Given the description of an element on the screen output the (x, y) to click on. 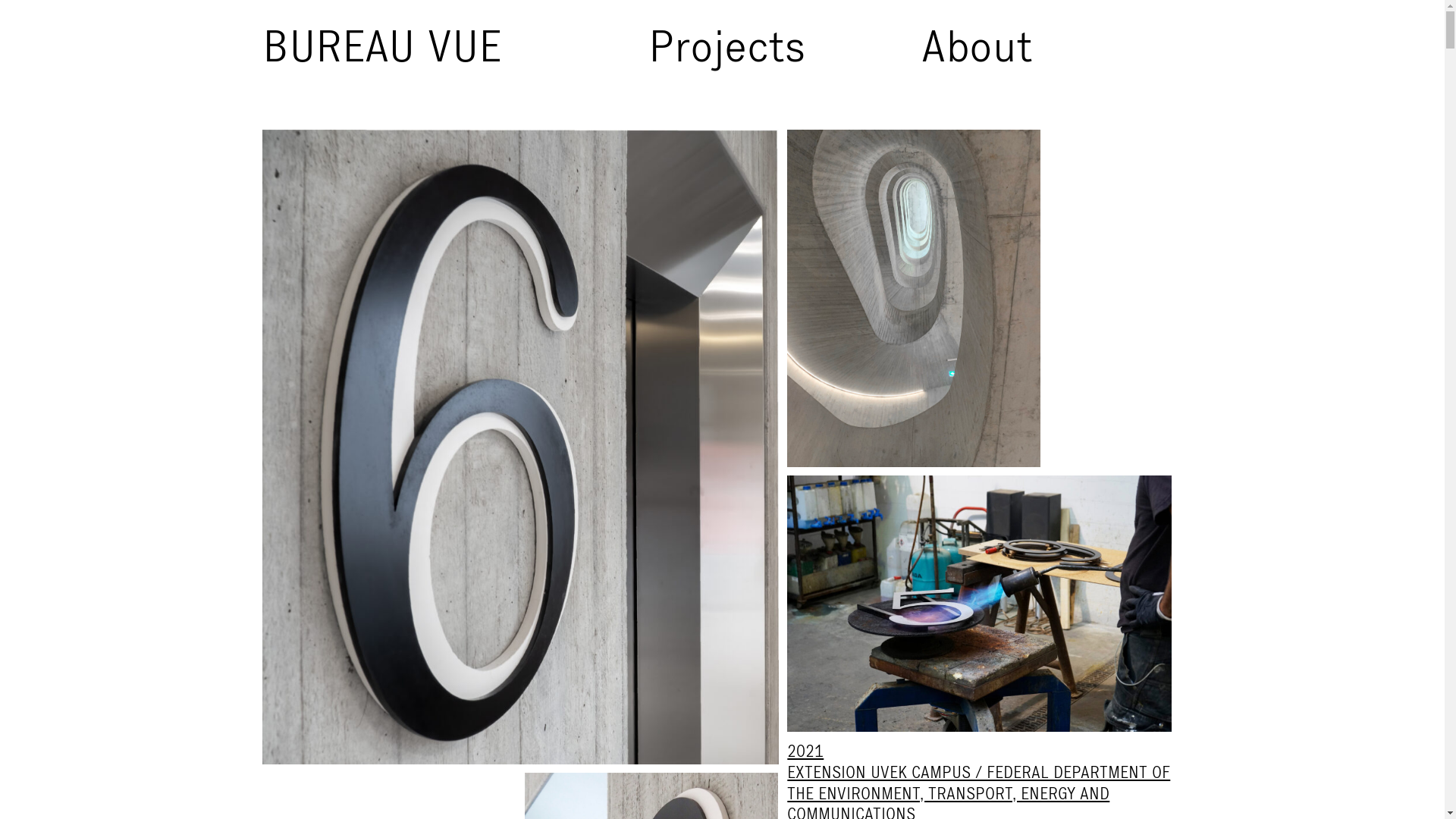
BUREAU VUE Element type: text (455, 46)
About Element type: text (1051, 60)
Projects Element type: text (778, 60)
